Given the description of an element on the screen output the (x, y) to click on. 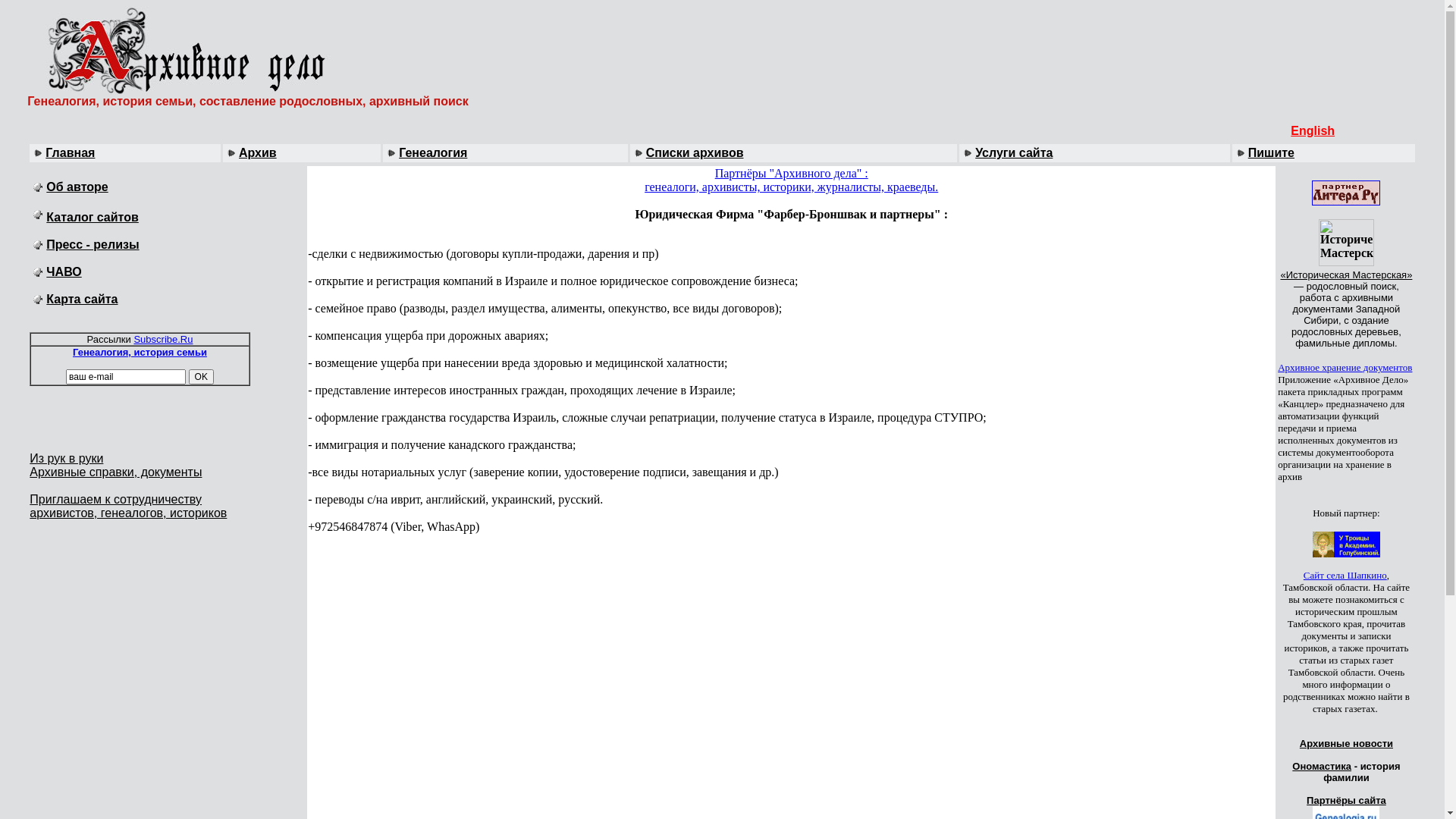
English Element type: text (1312, 130)
OK Element type: text (200, 376)
Subscribe.Ru Element type: text (162, 339)
